Given the description of an element on the screen output the (x, y) to click on. 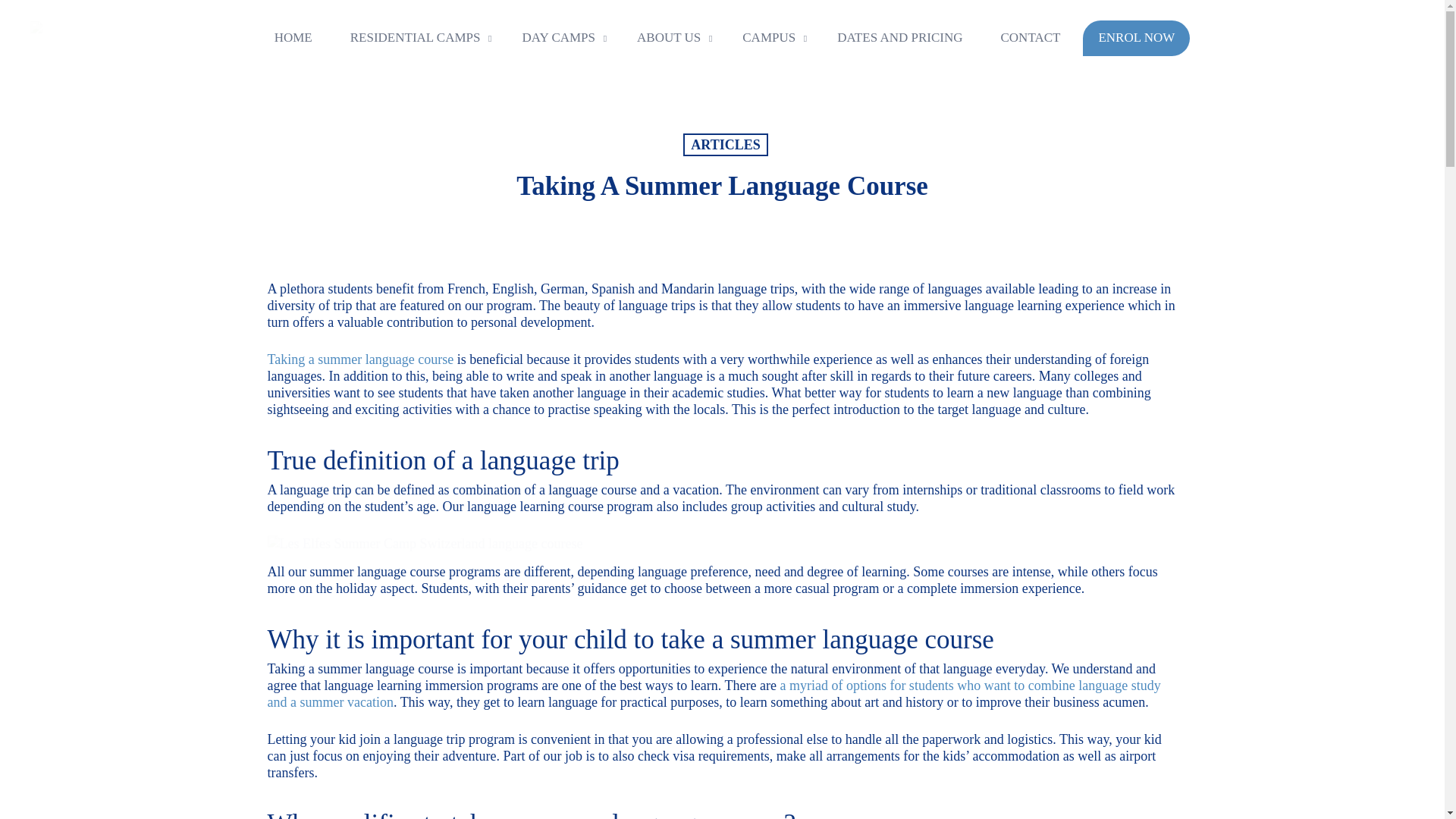
RESIDENTIAL CAMPS (416, 38)
HOME (293, 38)
